Given the description of an element on the screen output the (x, y) to click on. 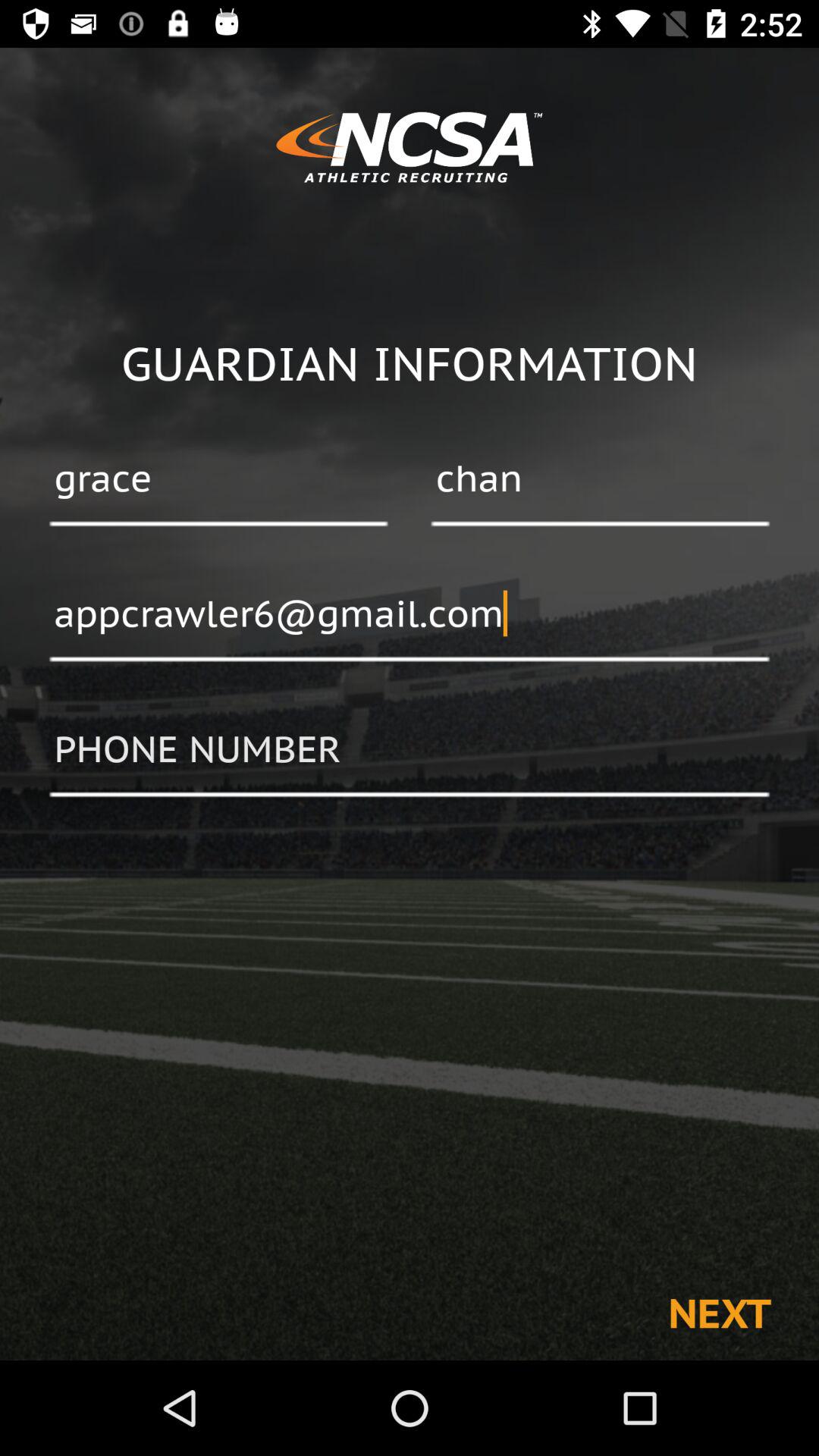
press the item below the guardian information item (218, 479)
